Given the description of an element on the screen output the (x, y) to click on. 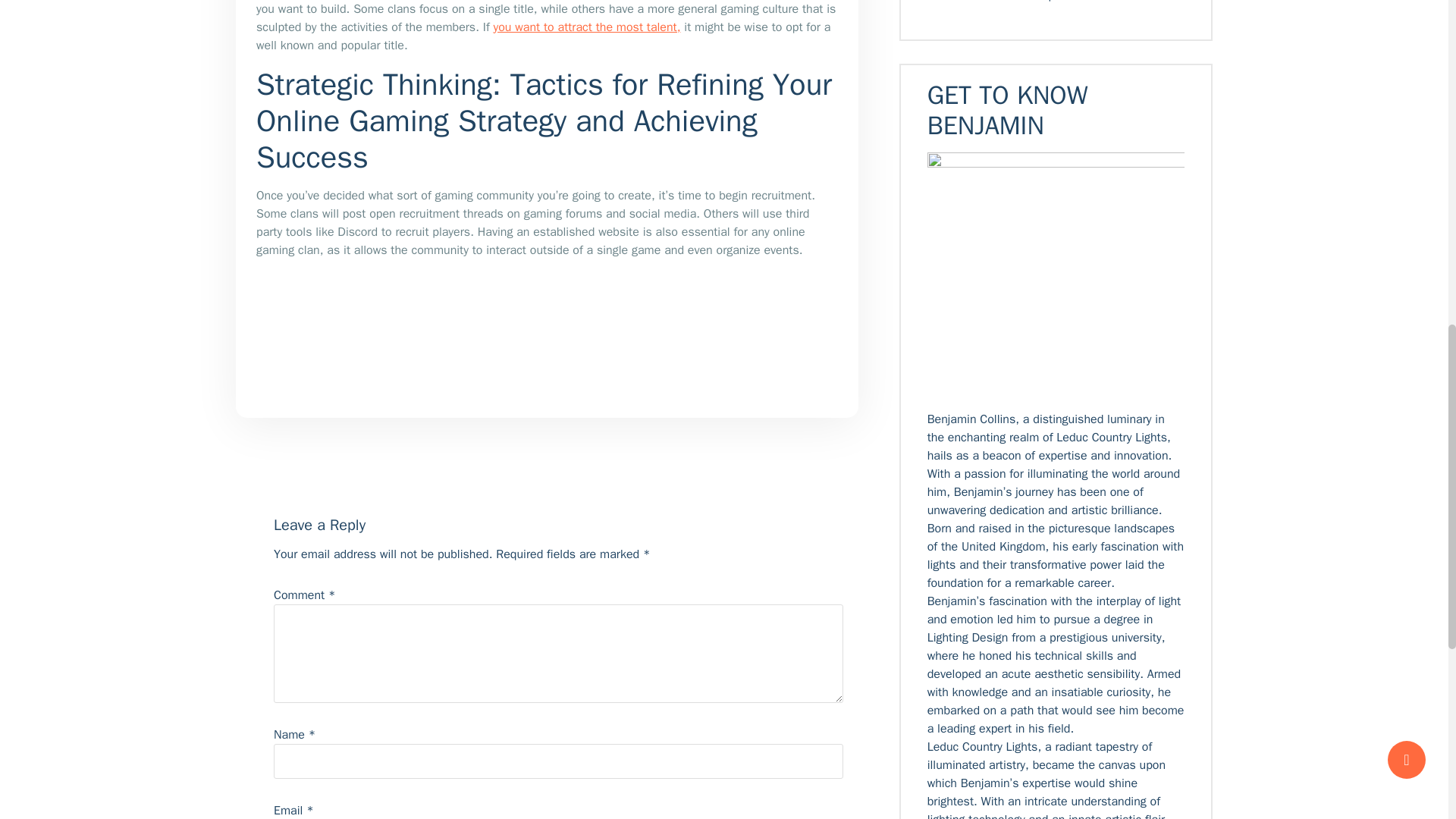
Where to Find Online Sports News (1017, 1)
you want to attract the most talent, (587, 27)
